Given the description of an element on the screen output the (x, y) to click on. 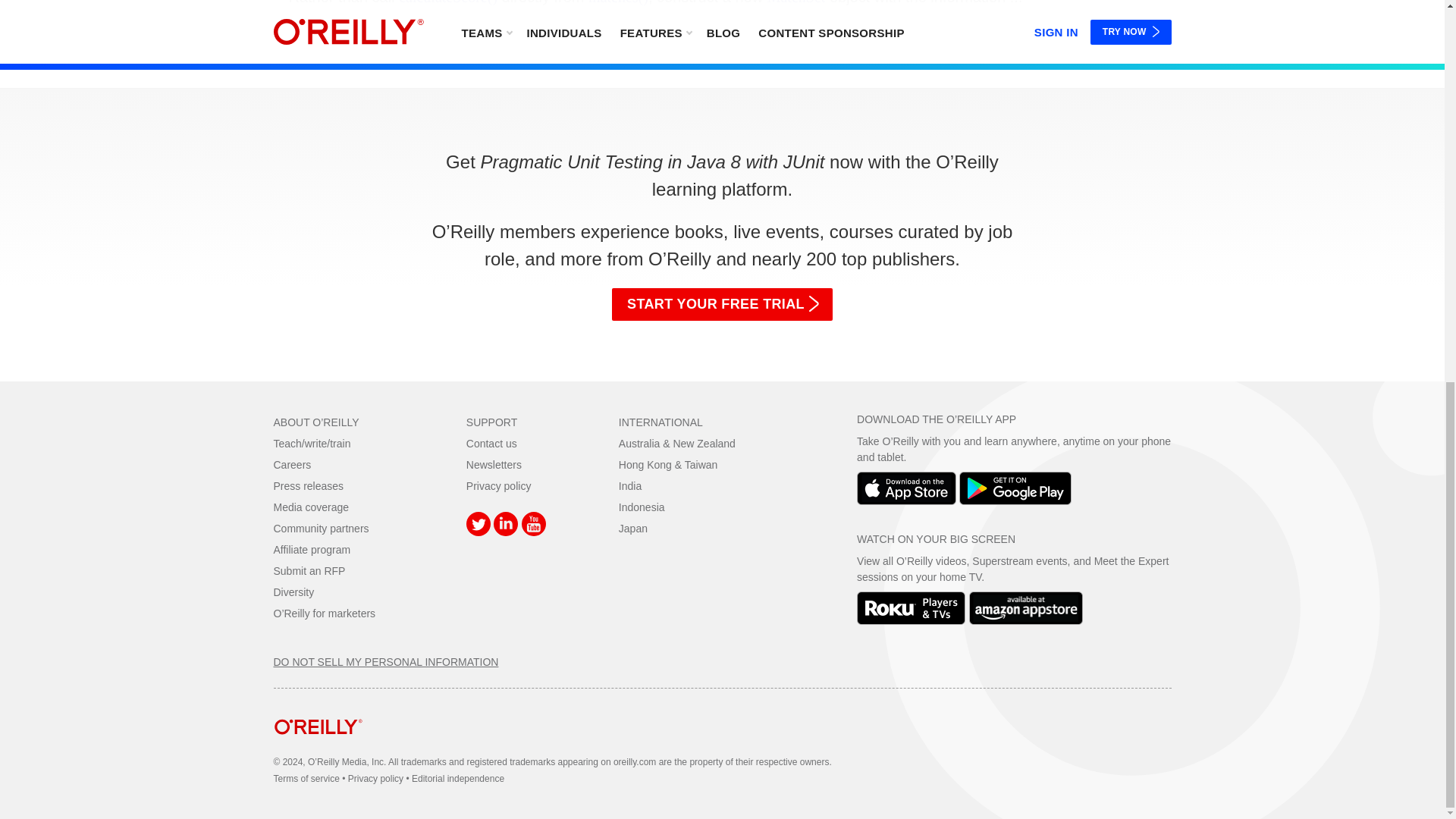
Privacy policy (498, 485)
SUPPORT (490, 422)
Submit an RFP (309, 571)
Affiliate program (311, 549)
Newsletters (493, 464)
Diversity (293, 592)
Community partners (320, 528)
Media coverage (311, 507)
home page (317, 745)
START YOUR FREE TRIAL (721, 304)
